Given the description of an element on the screen output the (x, y) to click on. 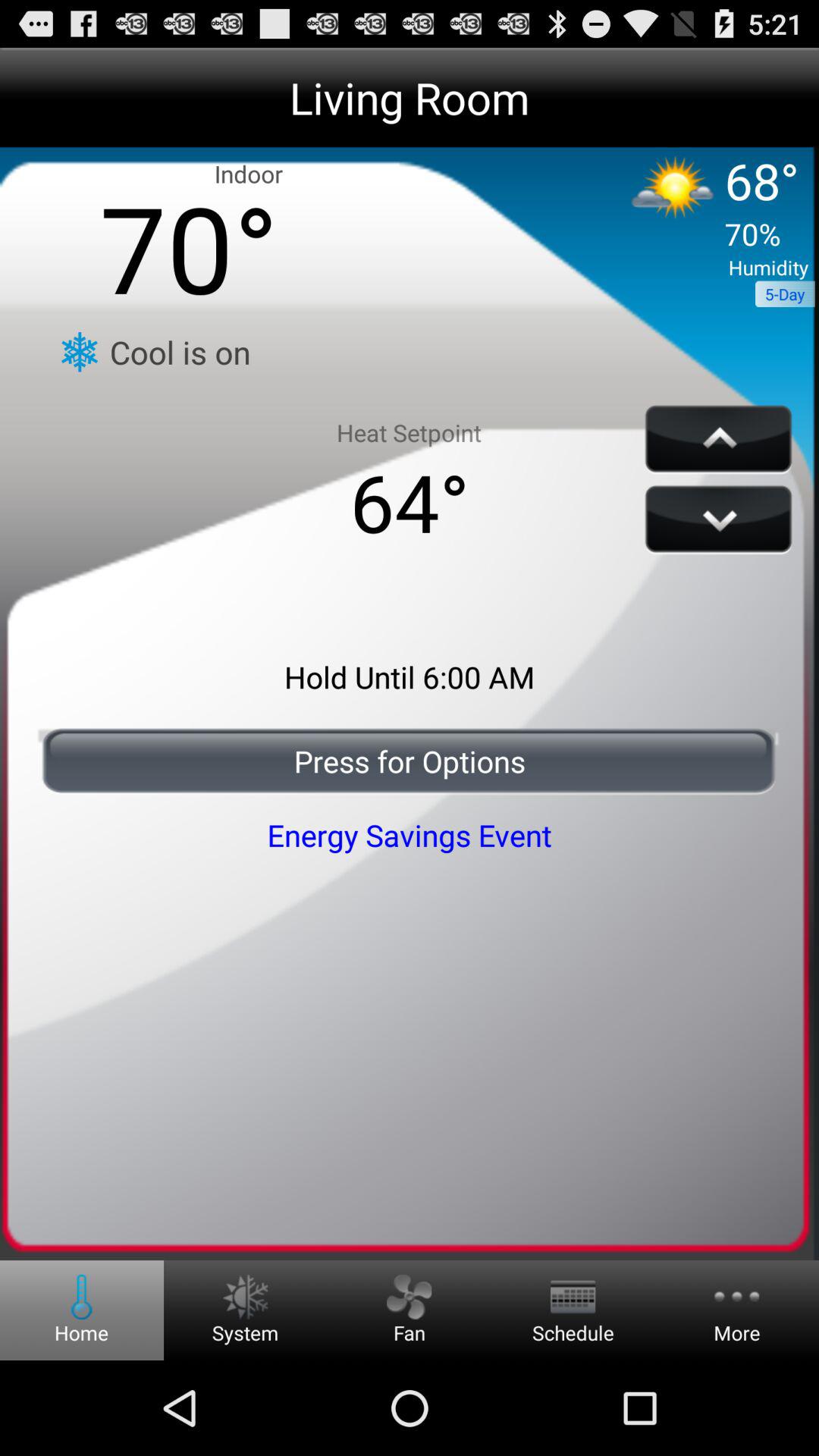
turn off the icon to the right of the indoor item (704, 206)
